Given the description of an element on the screen output the (x, y) to click on. 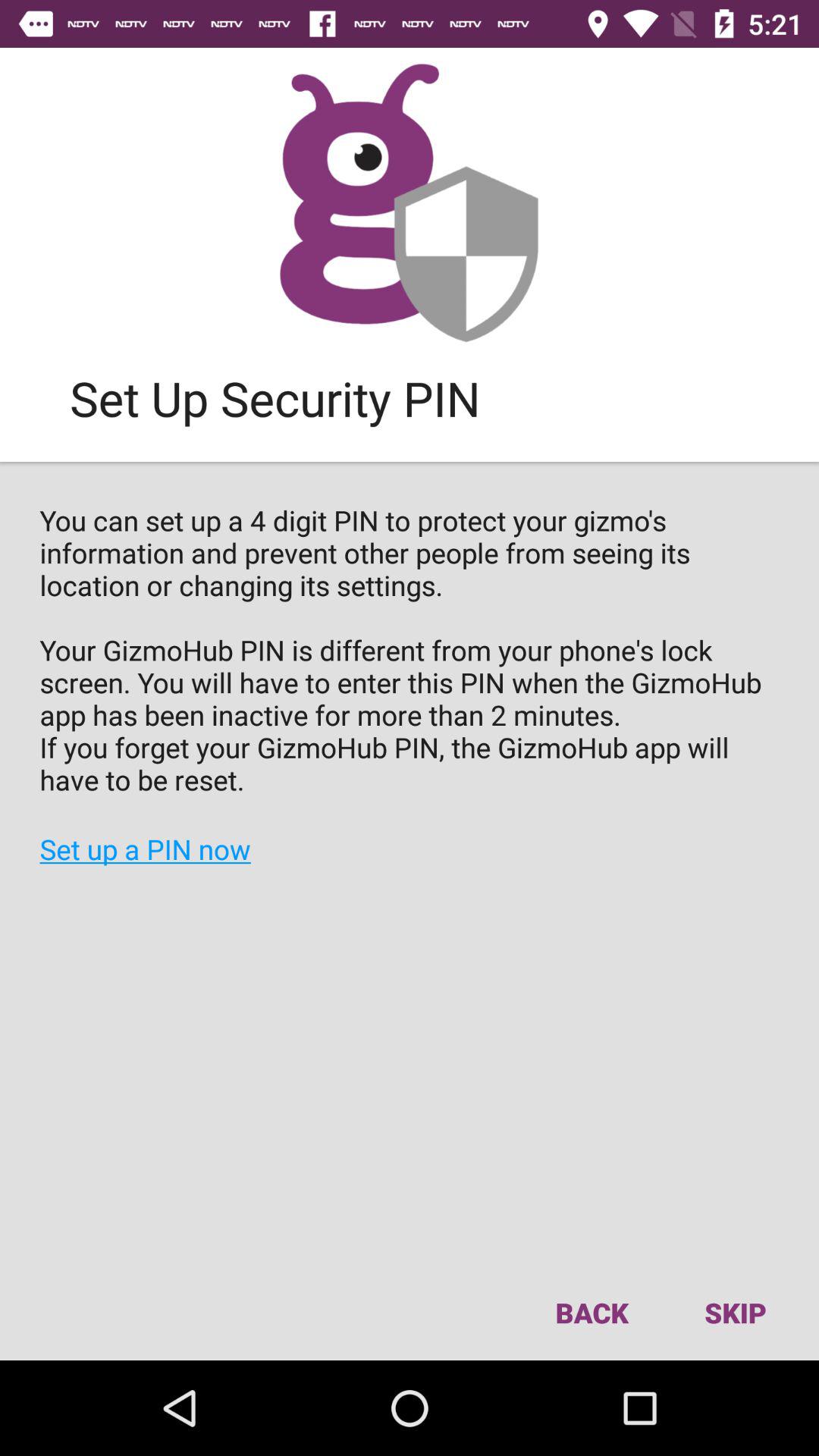
press item to the right of the back (735, 1312)
